Given the description of an element on the screen output the (x, y) to click on. 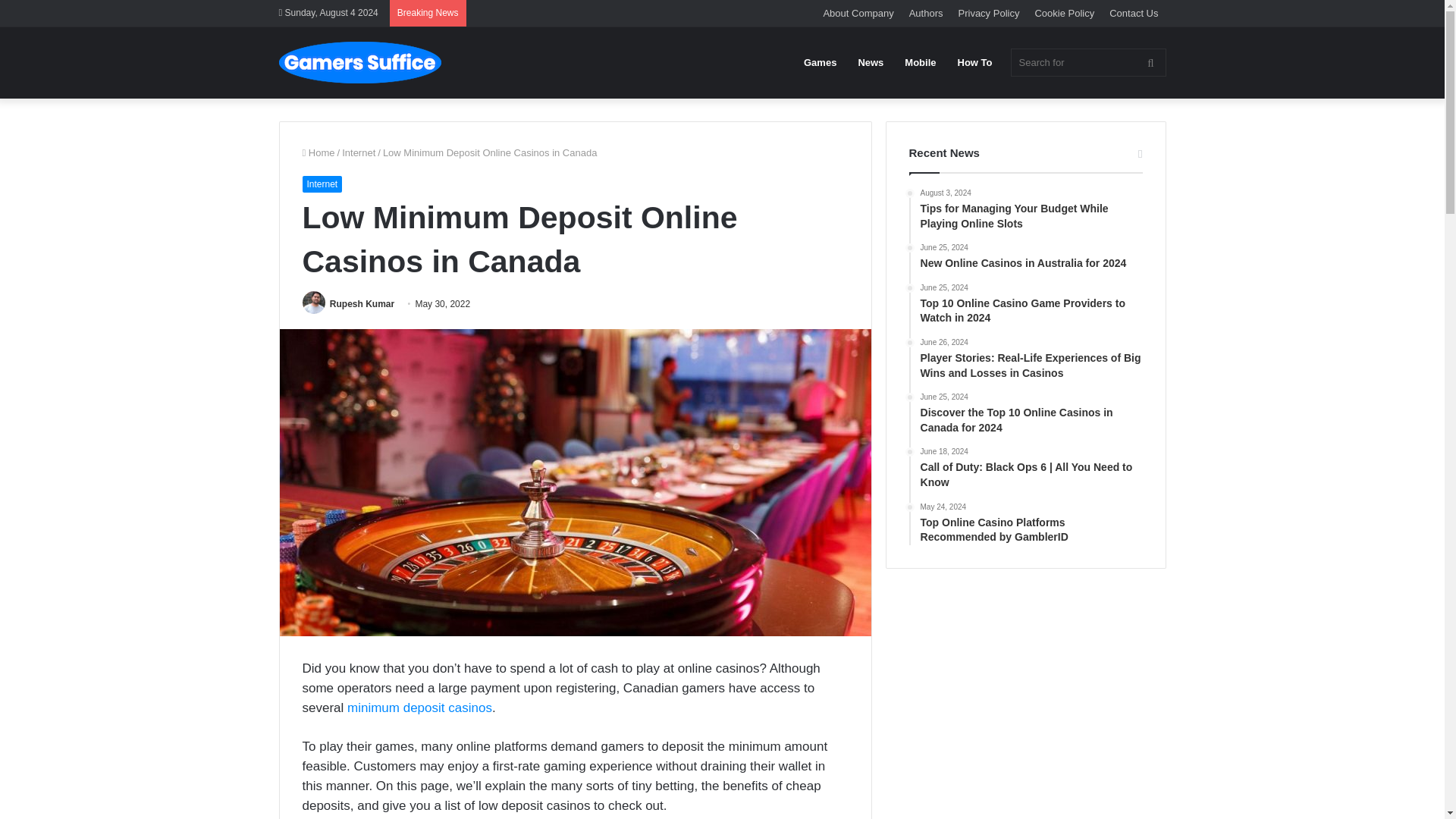
Authors (925, 13)
Mobile (919, 62)
Search for (1150, 62)
Search for (1088, 62)
Privacy Policy (988, 13)
Internet (321, 184)
Gamers Suffice (360, 62)
News (870, 62)
Rupesh Kumar (362, 303)
How To (975, 62)
About Company (858, 13)
Rupesh Kumar (362, 303)
Games (820, 62)
minimum deposit casinos (419, 707)
Internet (358, 152)
